Given the description of an element on the screen output the (x, y) to click on. 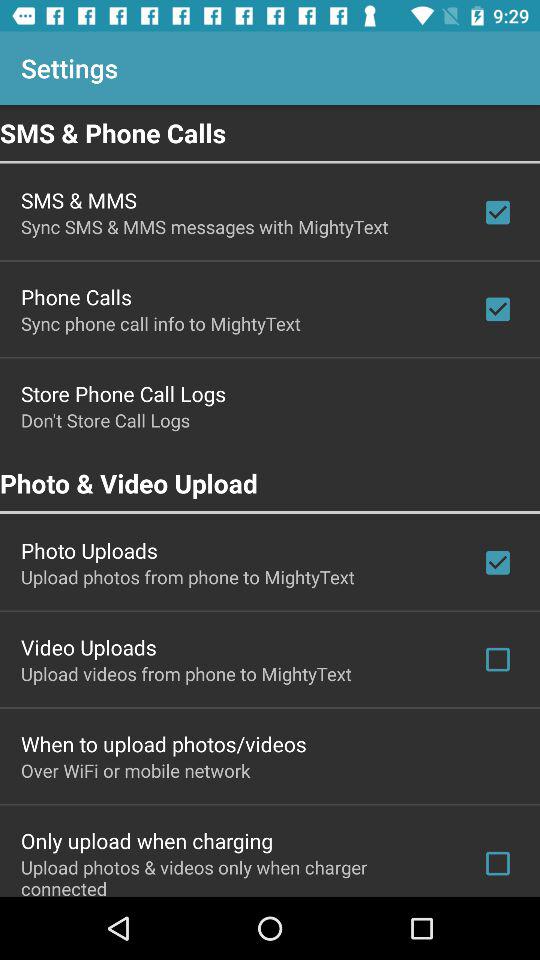
select the app above upload videos from icon (88, 647)
